Given the description of an element on the screen output the (x, y) to click on. 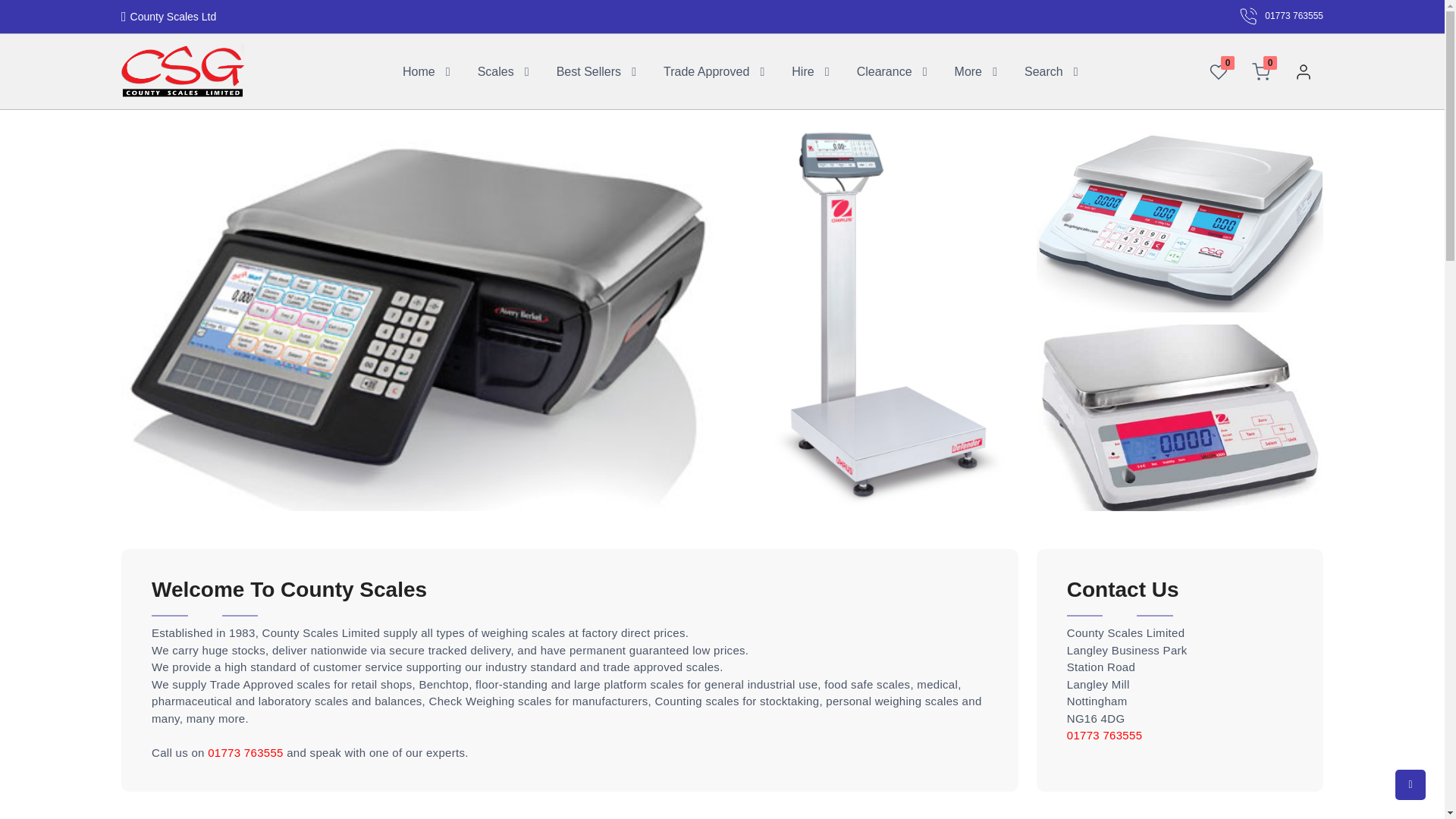
Hire (802, 71)
0 (1218, 72)
Search (1042, 71)
Best Sellers (588, 71)
Clearance (883, 71)
More (967, 71)
   01773 763555 (1281, 16)
0 (1260, 72)
Trade Approved (706, 71)
Home (418, 71)
Scales (494, 71)
